Given the description of an element on the screen output the (x, y) to click on. 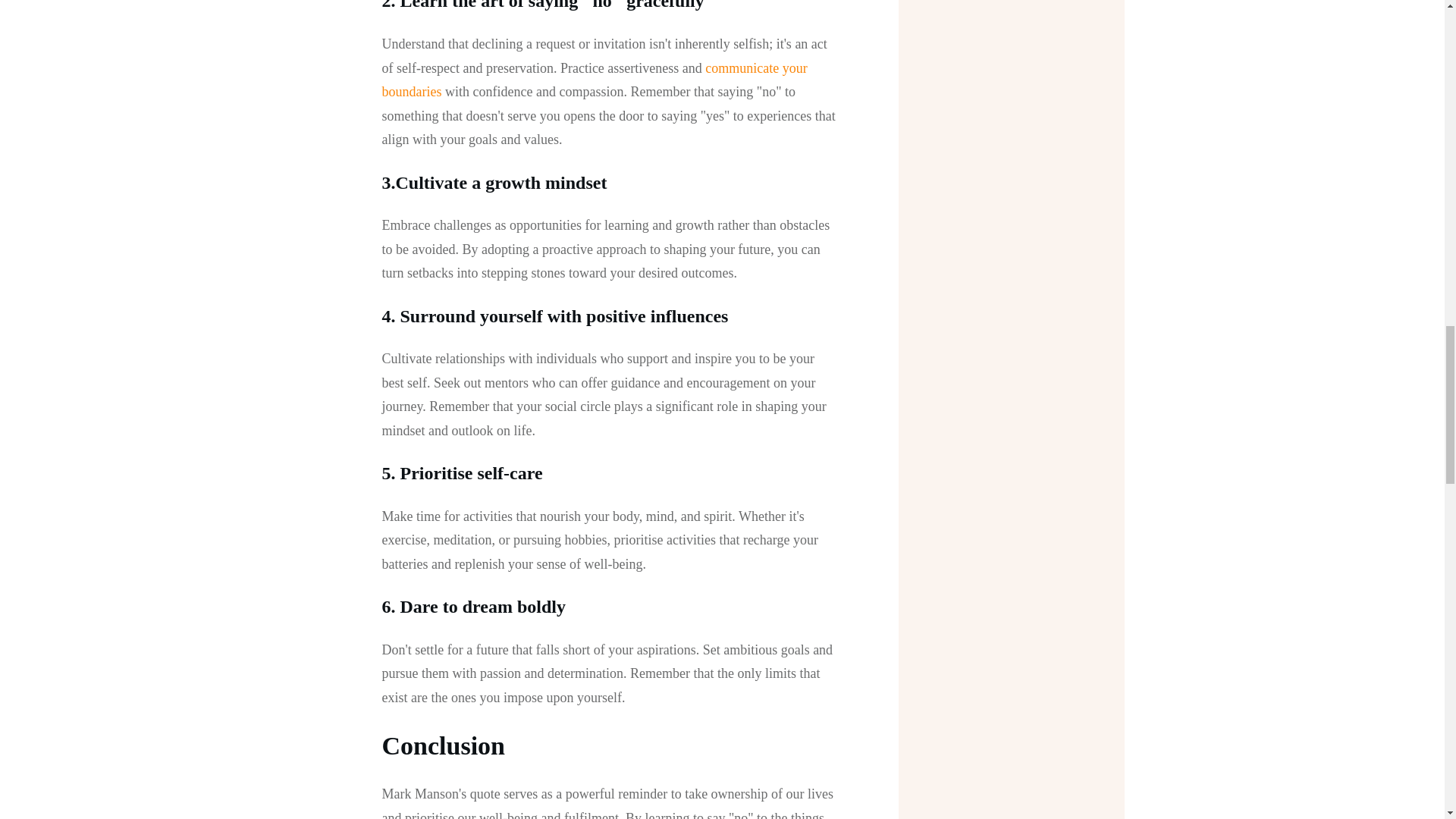
communicate your boundaries (594, 79)
